Given the description of an element on the screen output the (x, y) to click on. 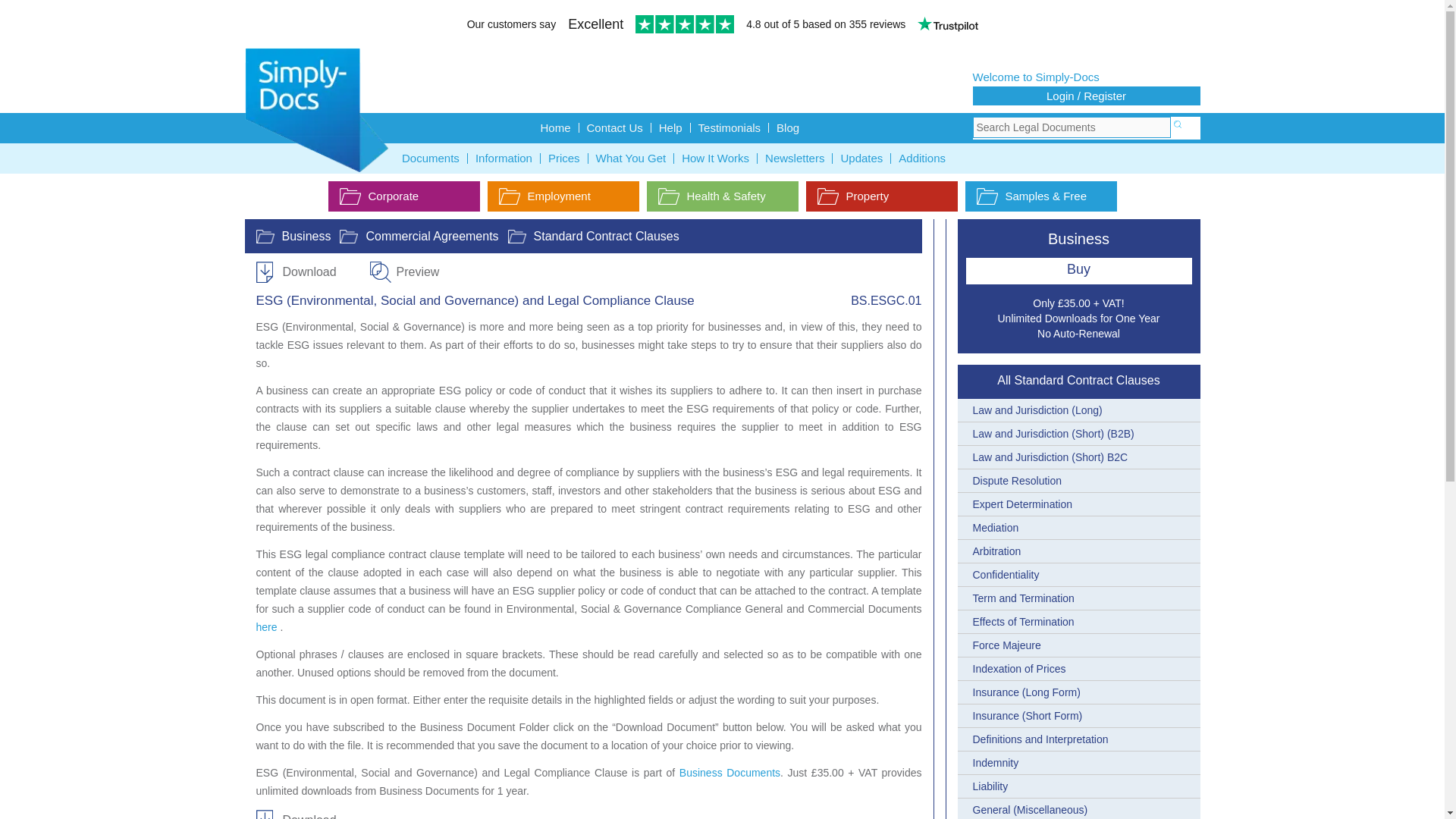
Blog (787, 127)
Home (555, 127)
Help (670, 127)
Documents (430, 158)
Testimonials (730, 127)
Contact Us (614, 127)
Customer reviews powered by Trustpilot (721, 25)
